Given the description of an element on the screen output the (x, y) to click on. 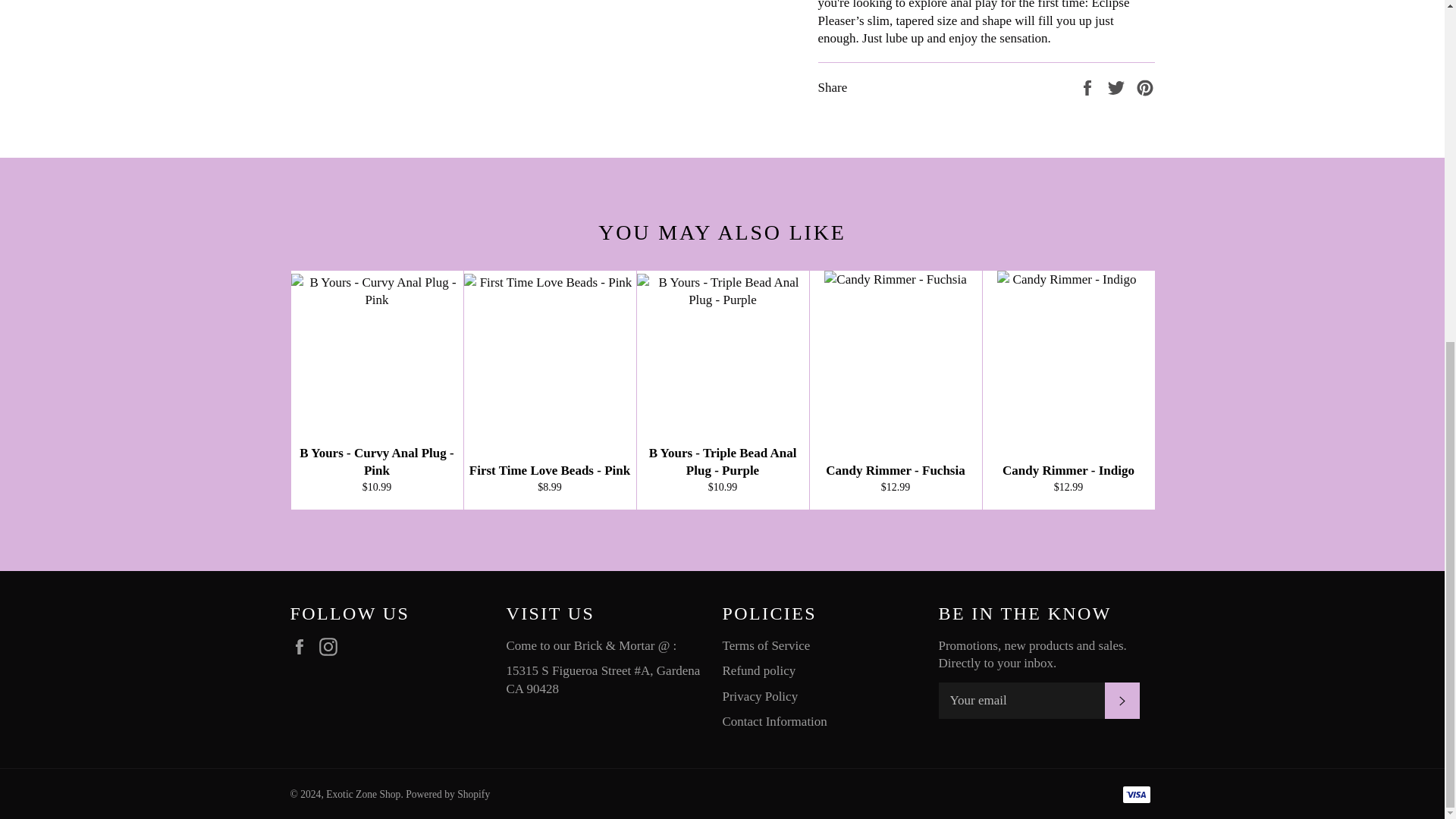
Instagram (331, 646)
Pin on Pinterest (1144, 86)
Pin on Pinterest (1144, 86)
Exotic Zone Shop on Facebook (302, 646)
Share on Facebook (1088, 86)
Facebook (302, 646)
Tweet on Twitter (1117, 86)
Exotic Zone Shop on Instagram (331, 646)
Tweet on Twitter (1117, 86)
Share on Facebook (1088, 86)
